Given the description of an element on the screen output the (x, y) to click on. 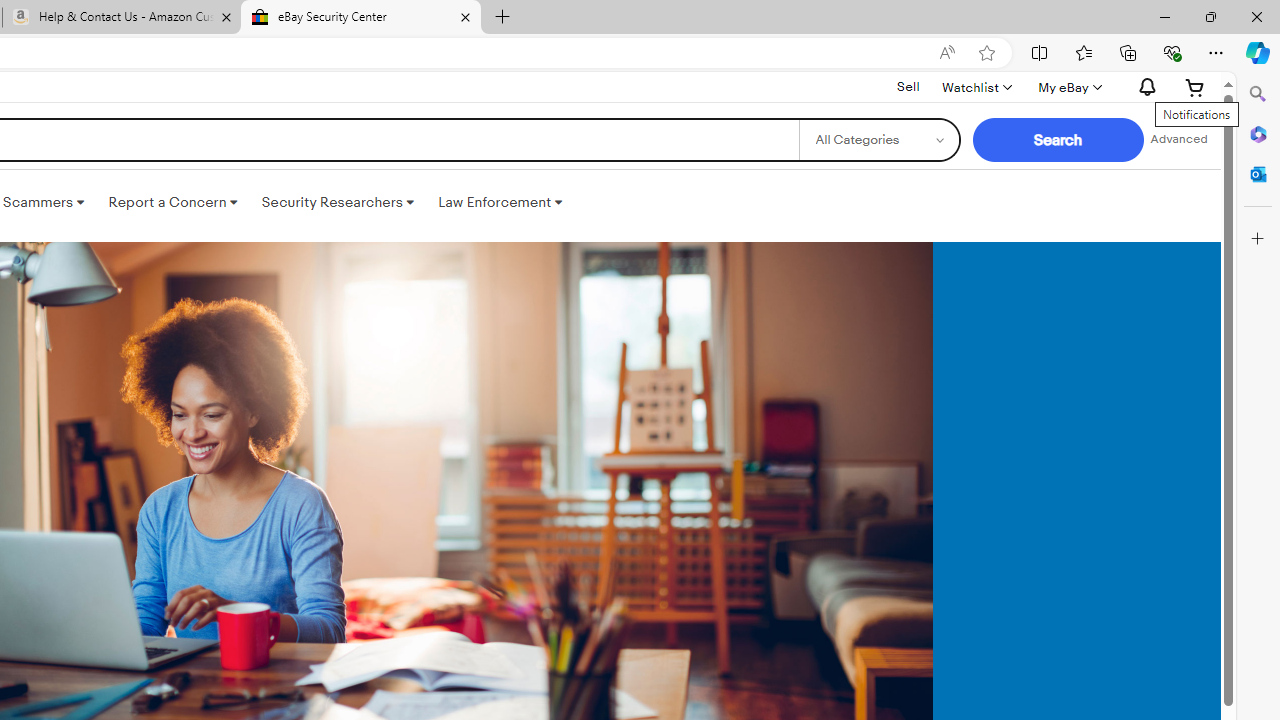
Report a Concern  (173, 202)
Select a category for search (877, 139)
Law Enforcement  (500, 202)
Sell (907, 86)
My eBayExpand My eBay (1068, 87)
My eBay (1068, 87)
Expand Cart (1195, 87)
Watchlist (975, 87)
